Given the description of an element on the screen output the (x, y) to click on. 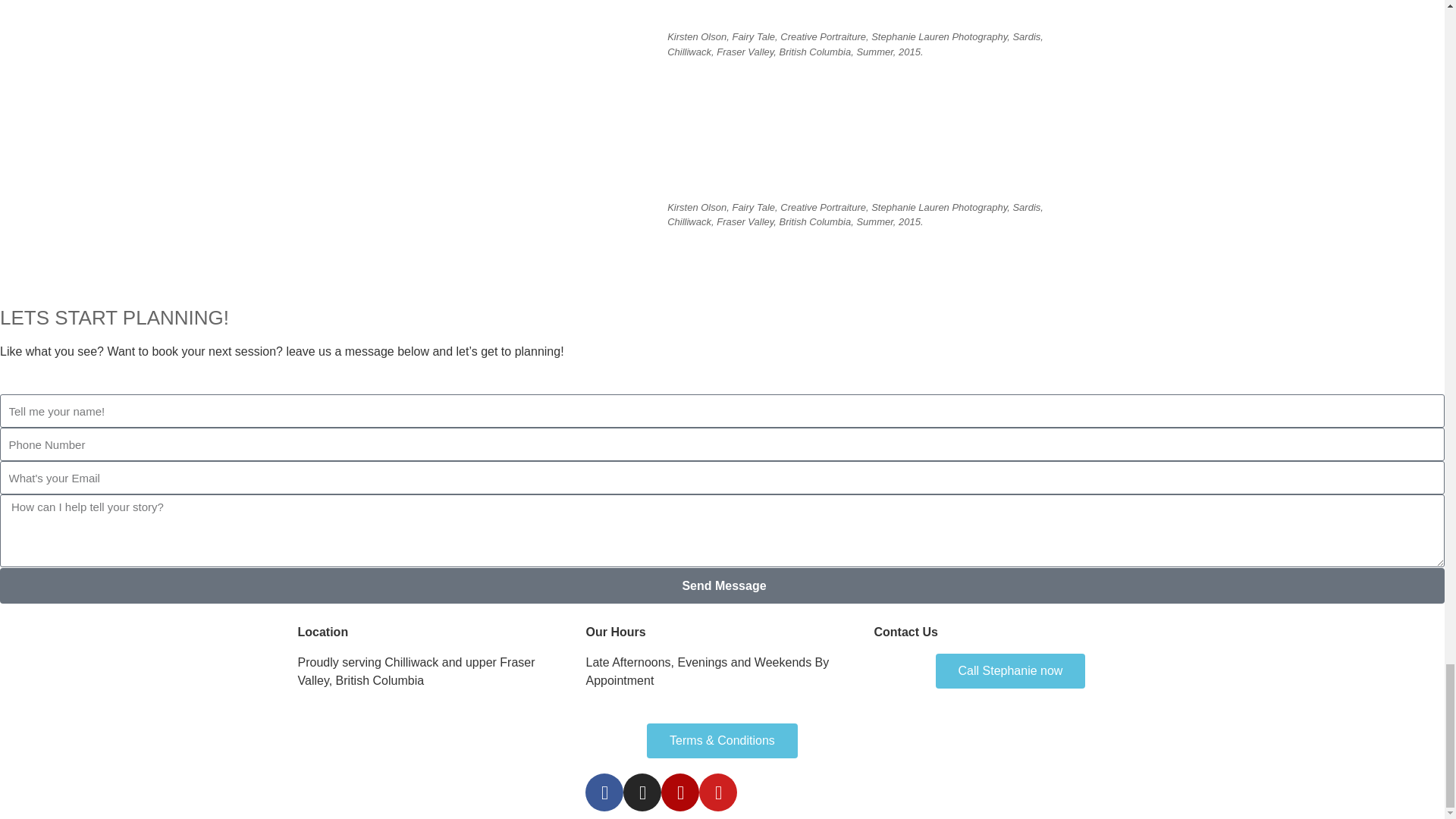
Call Stephanie now (1011, 670)
